Given the description of an element on the screen output the (x, y) to click on. 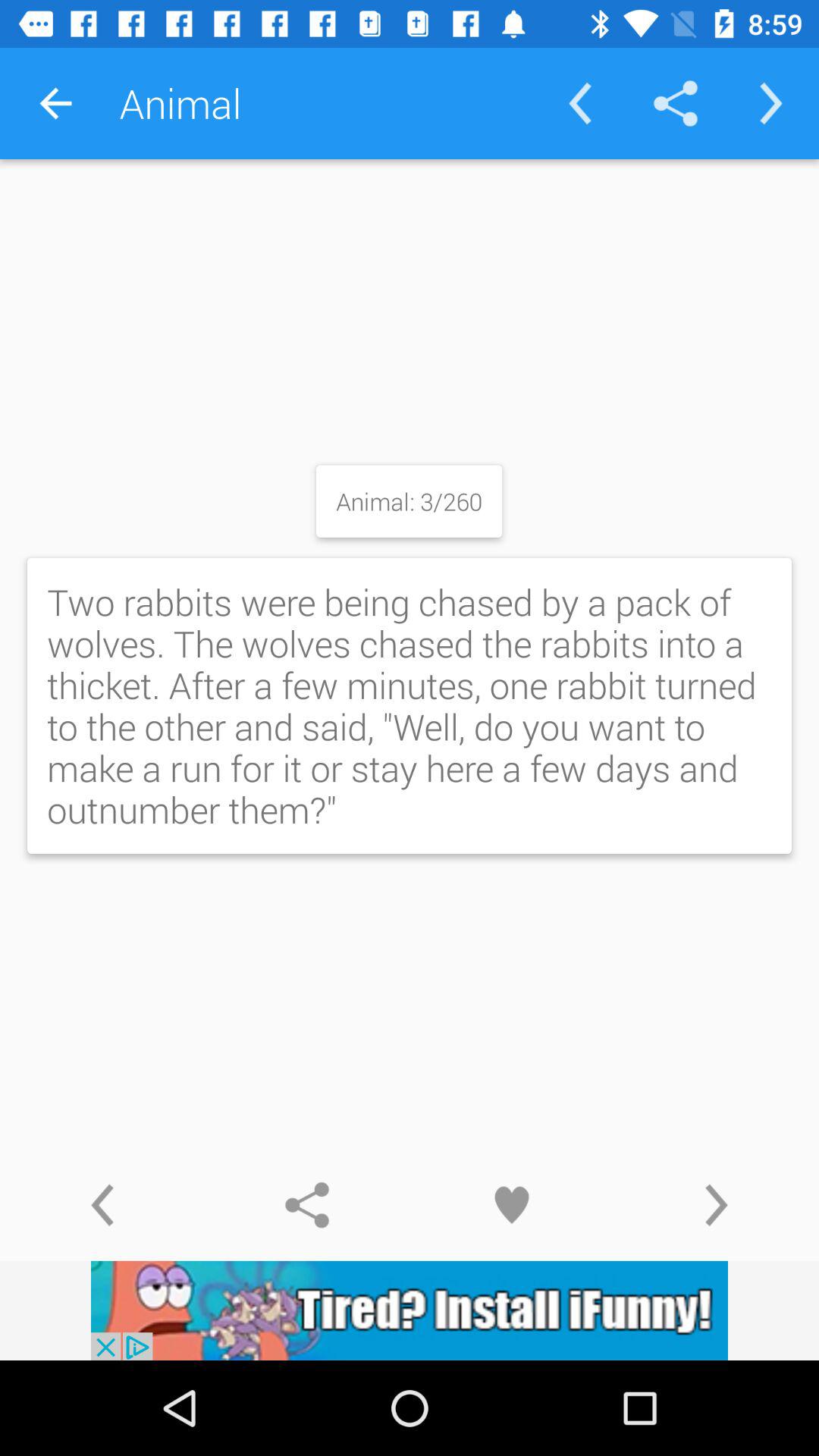
install app (409, 1310)
